Given the description of an element on the screen output the (x, y) to click on. 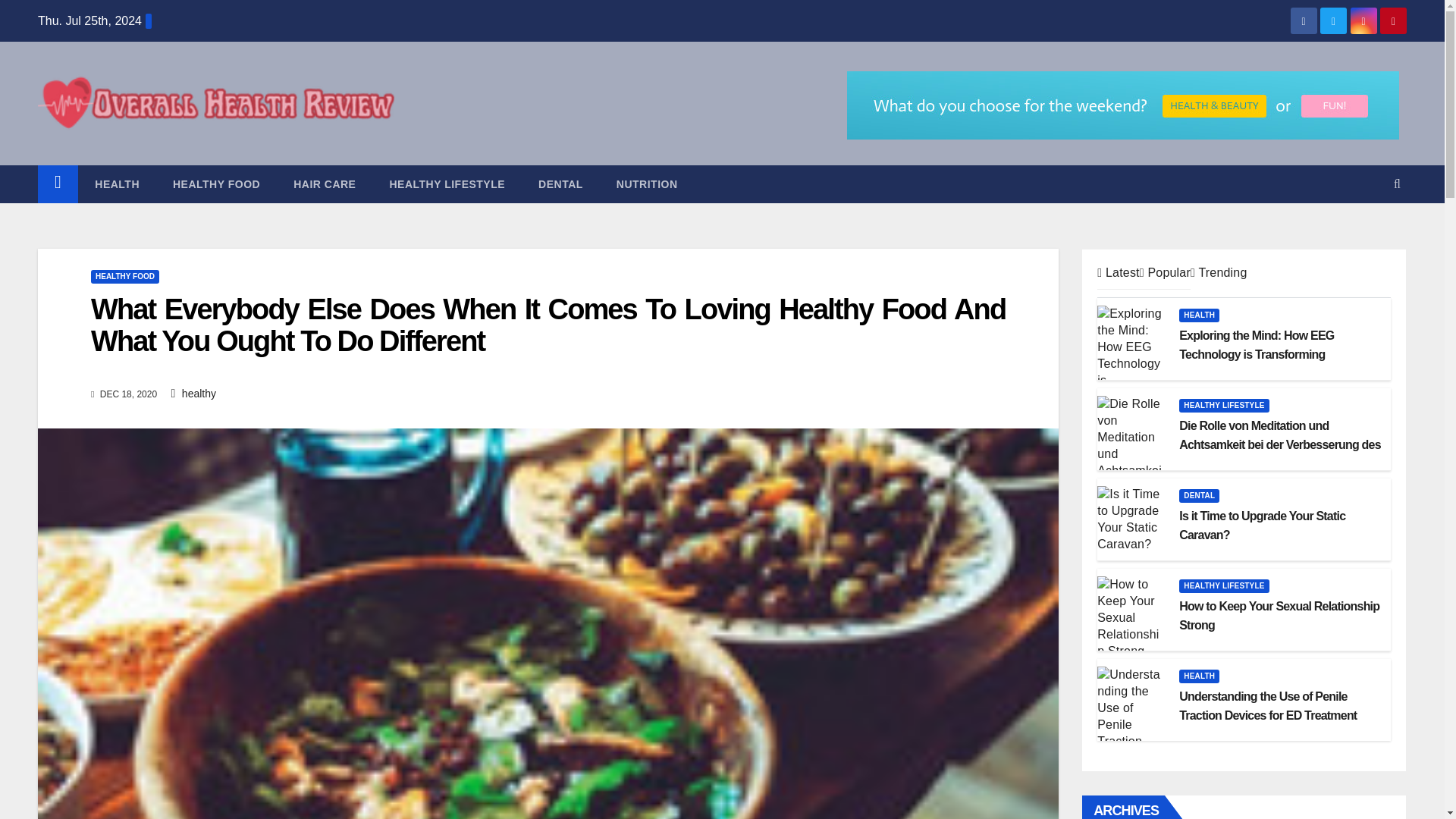
HAIR CARE (324, 184)
NUTRITION (646, 184)
Hair Care (324, 184)
Healthy Lifestyle (446, 184)
DENTAL (560, 184)
Healthy Food (215, 184)
Latest (1117, 272)
HEALTH (116, 184)
Nutrition (646, 184)
Dental (560, 184)
HEALTHY FOOD (215, 184)
HEALTHY LIFESTYLE (446, 184)
